Given the description of an element on the screen output the (x, y) to click on. 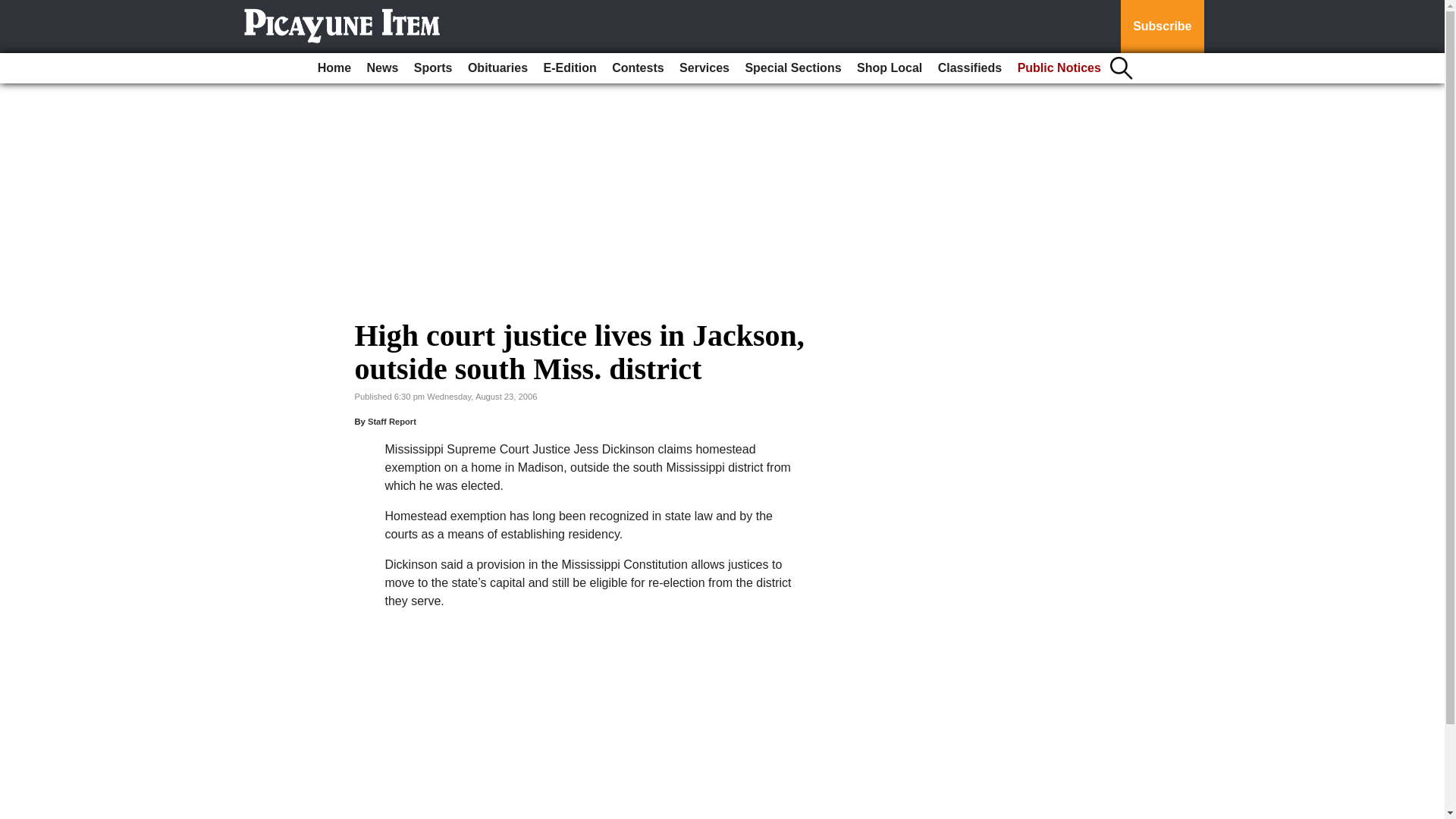
Special Sections (792, 68)
Services (703, 68)
Public Notices (1058, 68)
Classifieds (969, 68)
E-Edition (569, 68)
Contests (637, 68)
Go (13, 9)
Obituaries (497, 68)
Shop Local (889, 68)
Staff Report (392, 420)
News (382, 68)
Home (333, 68)
Subscribe (1162, 26)
Sports (432, 68)
